Given the description of an element on the screen output the (x, y) to click on. 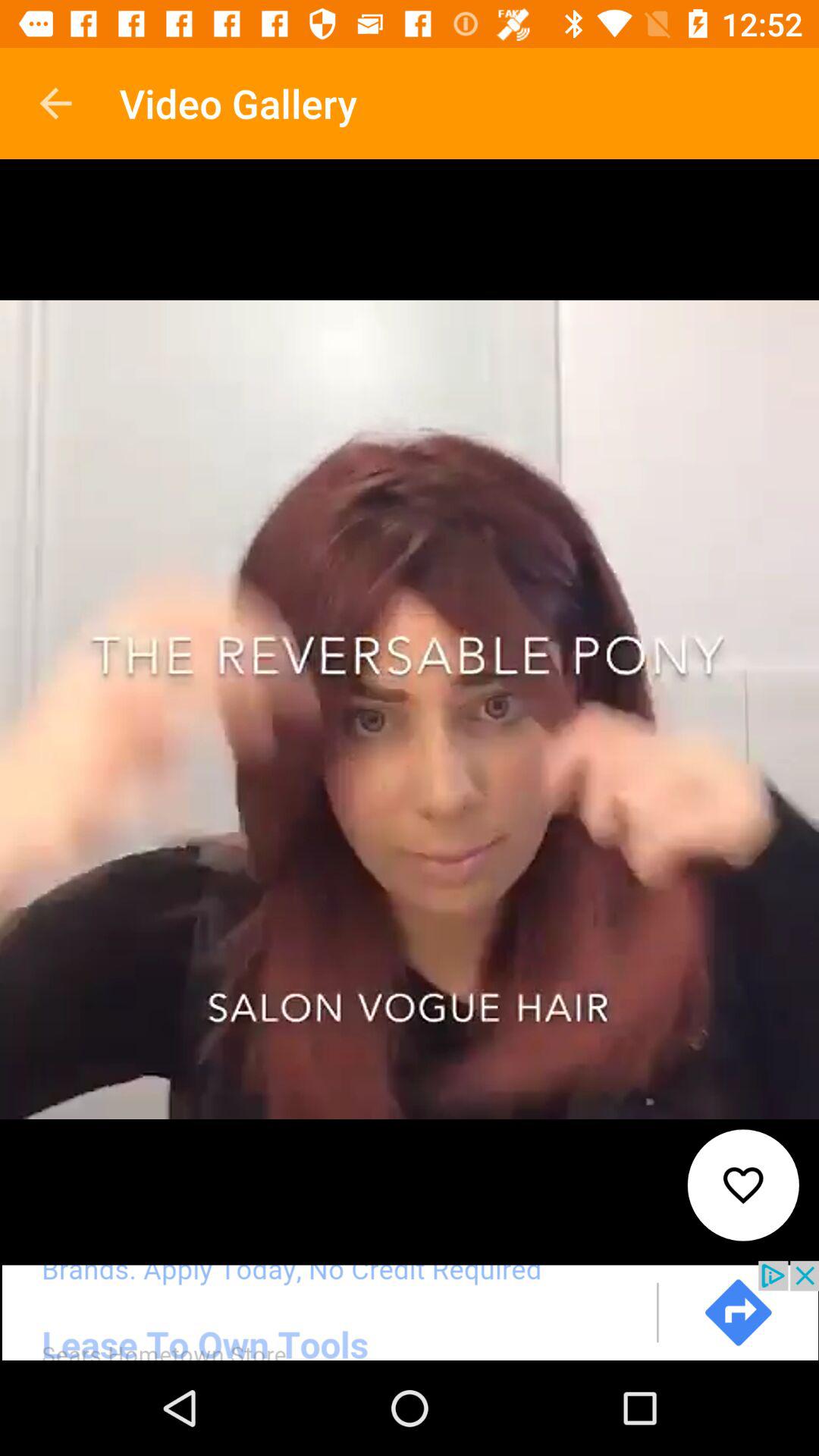
link to advertisement (409, 1310)
